Given the description of an element on the screen output the (x, y) to click on. 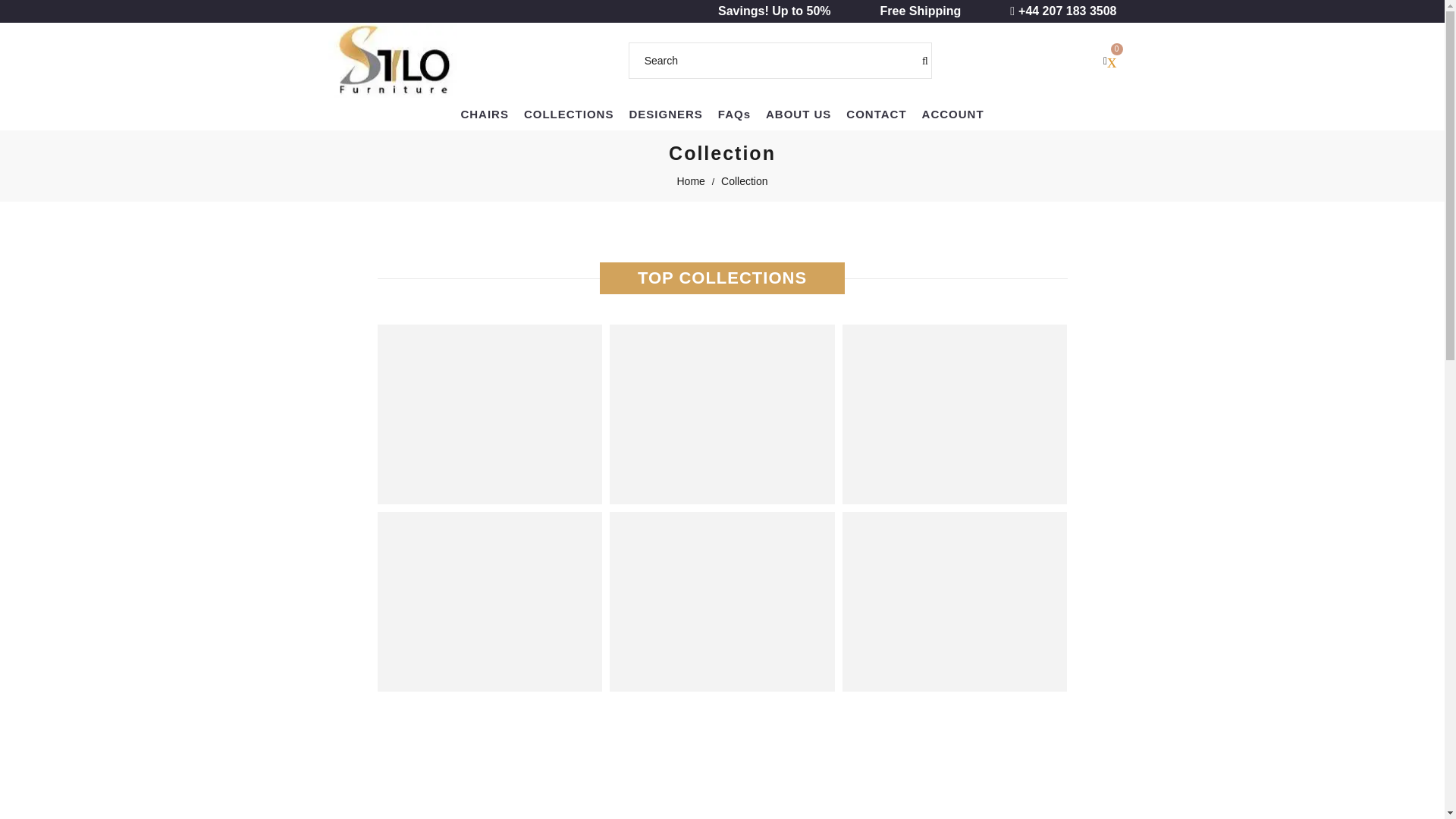
Home (690, 181)
COLLECTIONS (568, 114)
FAQs (734, 114)
CONTACT (876, 114)
Home (690, 181)
CHAIRS (484, 114)
DESIGNERS (665, 114)
ACCOUNT (952, 114)
ABOUT US (798, 114)
